Given the description of an element on the screen output the (x, y) to click on. 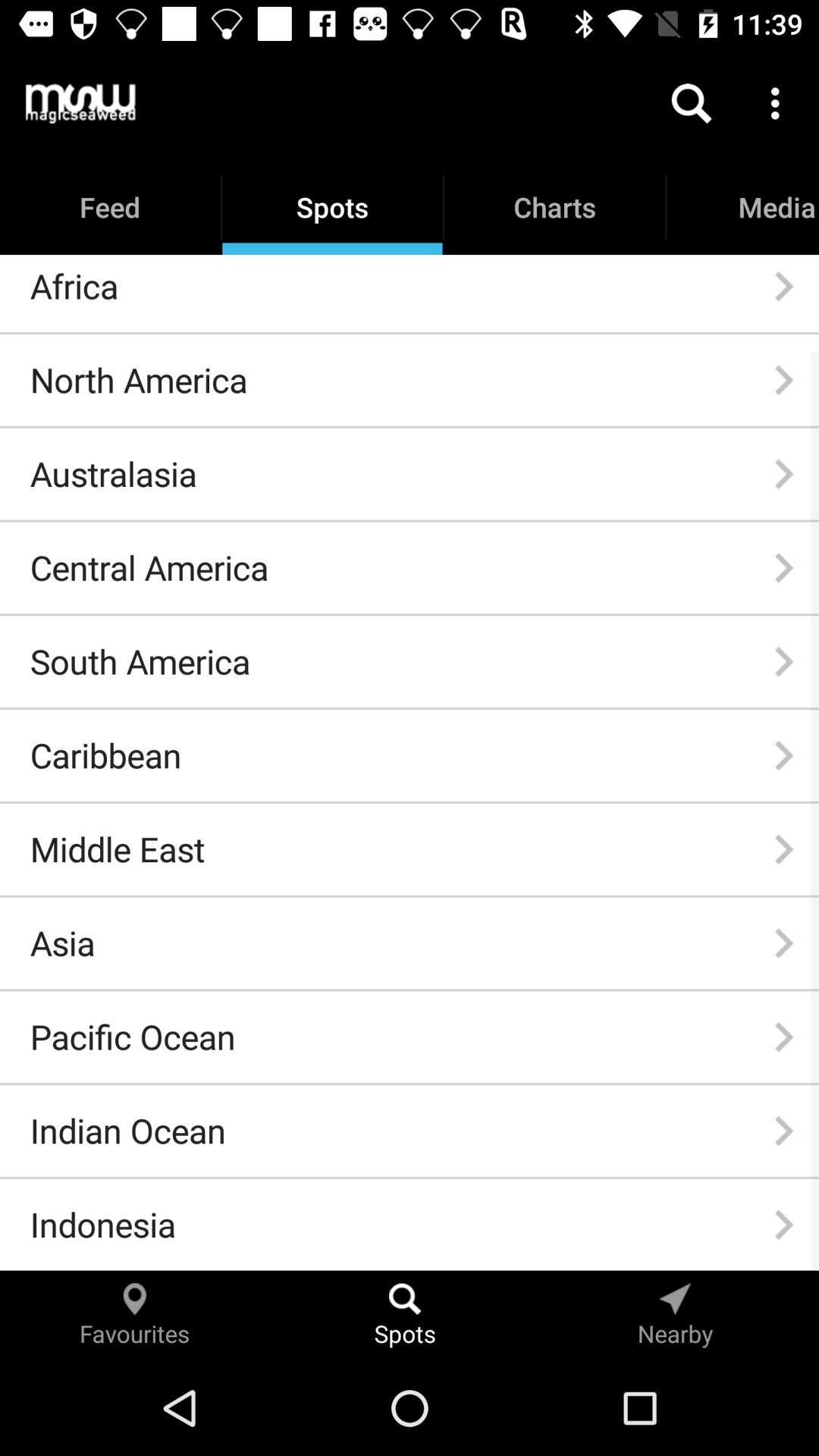
swipe to australasia (113, 473)
